Given the description of an element on the screen output the (x, y) to click on. 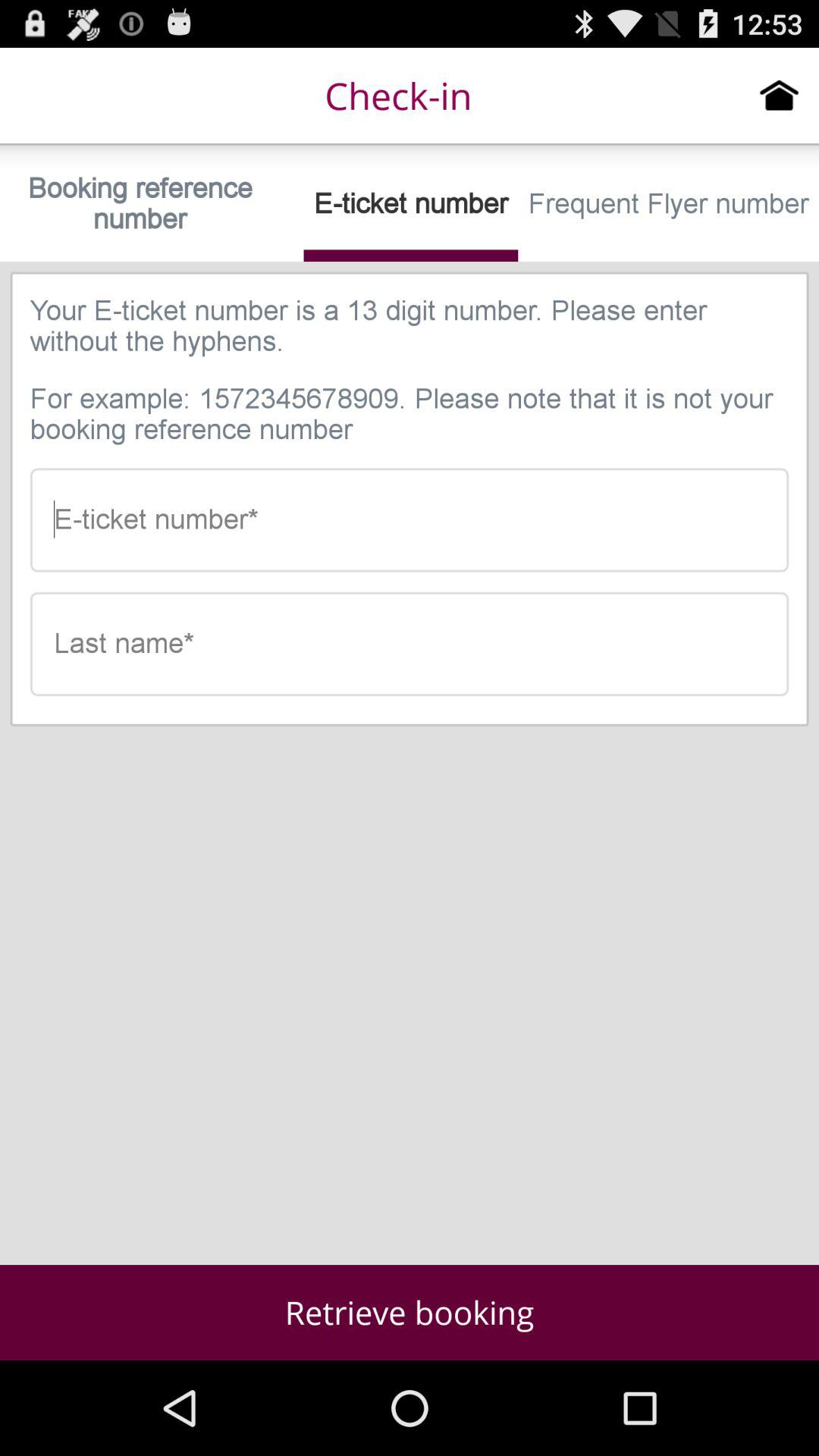
go to the home page (779, 95)
